Given the description of an element on the screen output the (x, y) to click on. 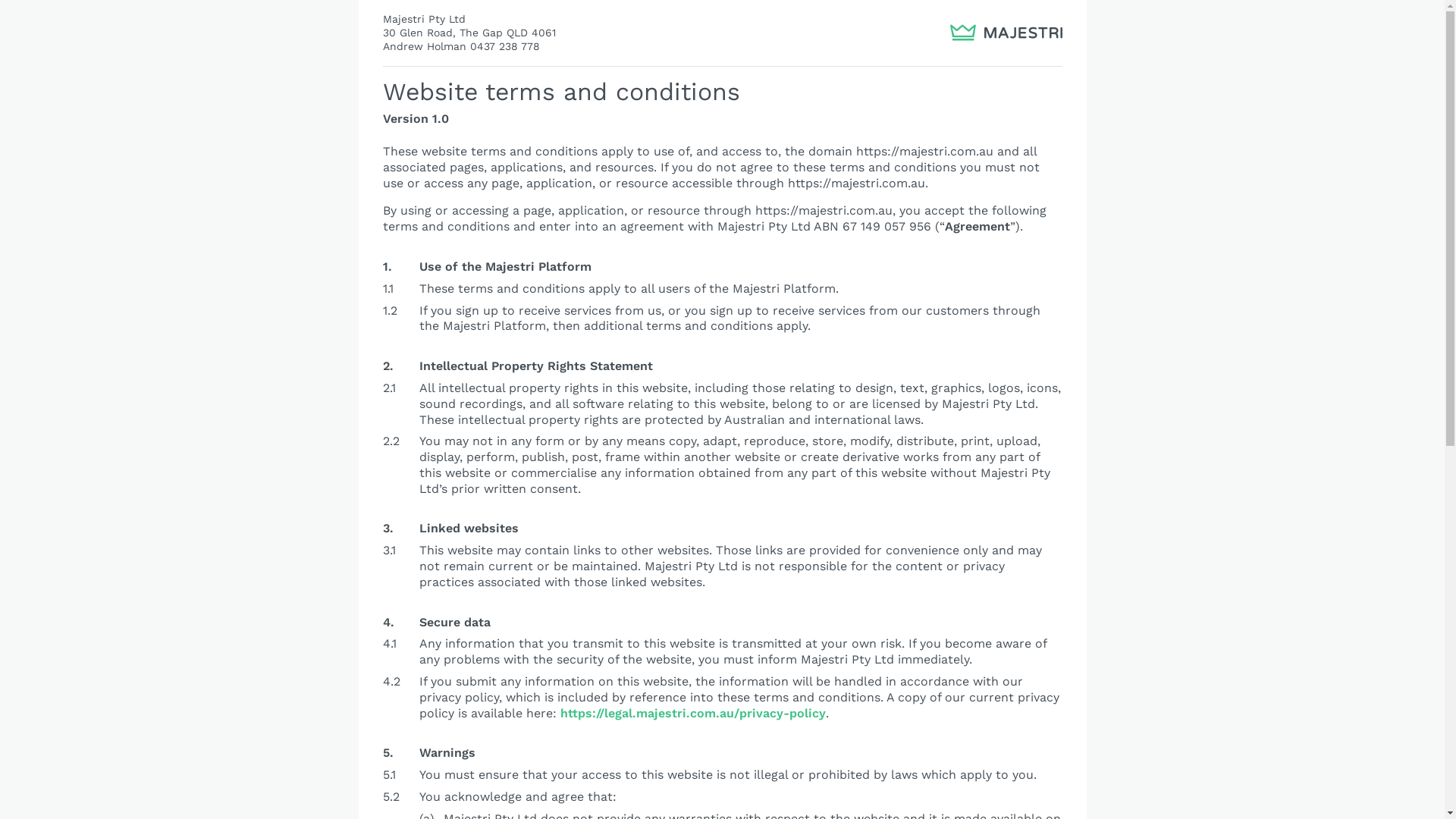
https://legal.majestri.com.au/privacy-policy Element type: text (692, 713)
